Given the description of an element on the screen output the (x, y) to click on. 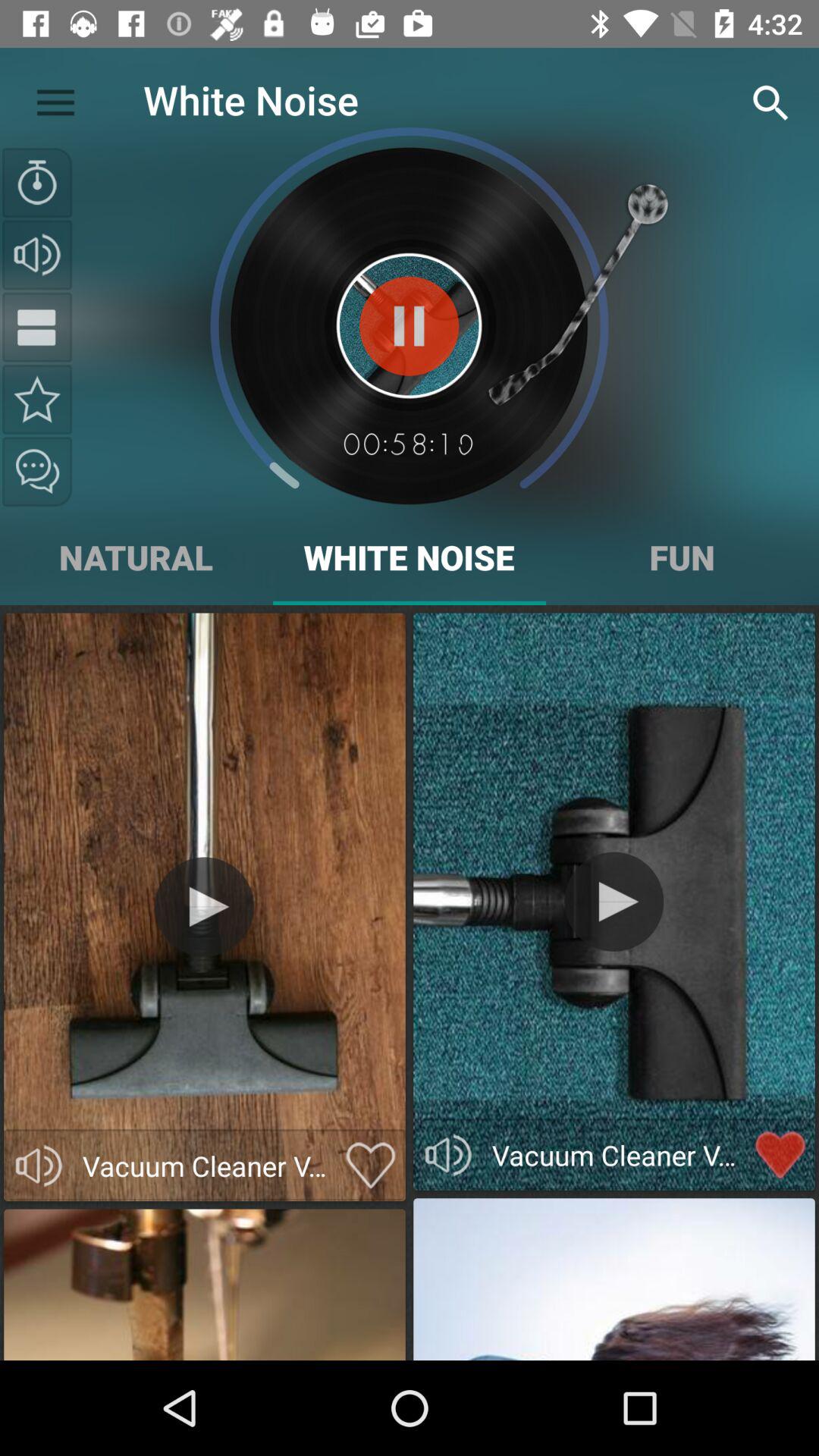
pause sound (408, 325)
